Given the description of an element on the screen output the (x, y) to click on. 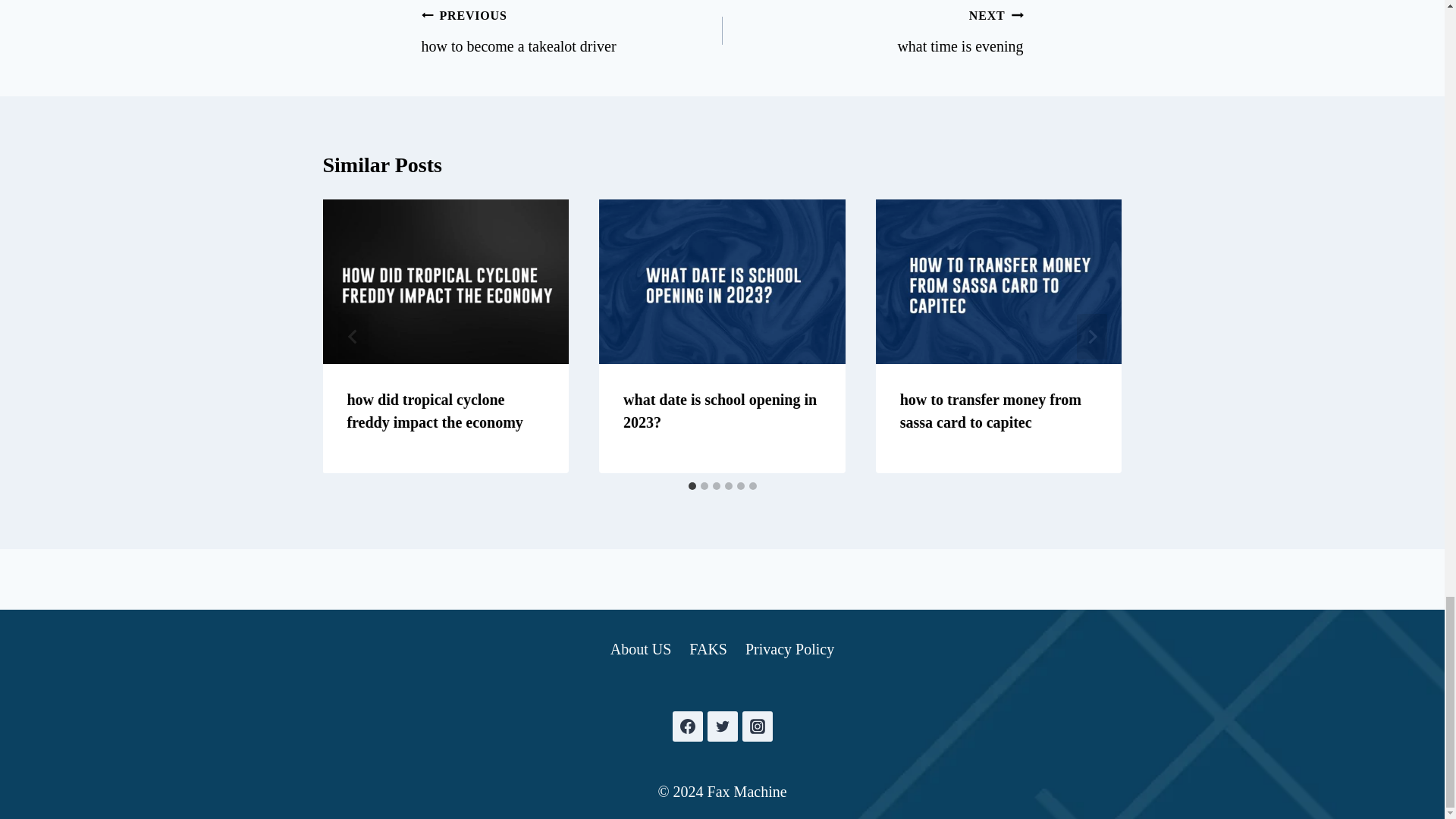
how did tropical cyclone freddy impact the economy (434, 410)
how to transfer money from sassa card to capitec (872, 30)
what date is school opening in 2023? (990, 410)
